Given the description of an element on the screen output the (x, y) to click on. 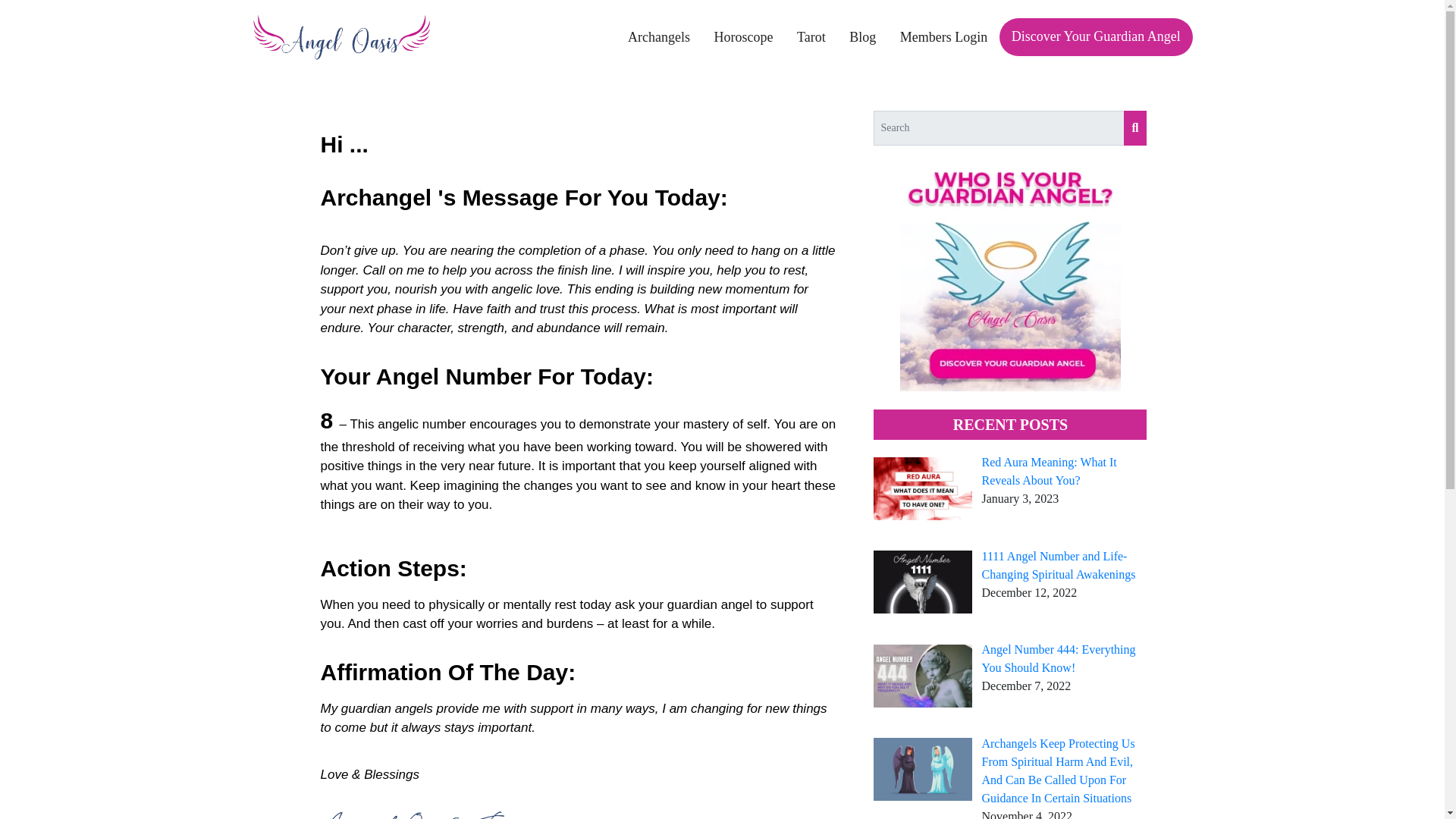
Horoscope (742, 37)
1111 Angel Number and Life-Changing Spiritual Awakenings 3 (922, 581)
Angel Number 444: Everything You Should Know! 4 (922, 675)
2609 1 (429, 815)
Angel Oasis (340, 36)
Discover Your Guardian Angel (1095, 37)
Red Aura Meaning: What It Reveals About You? 2 (922, 488)
Blog (863, 37)
Tarot (810, 37)
Archangels (658, 37)
Members Login (943, 37)
